Given the description of an element on the screen output the (x, y) to click on. 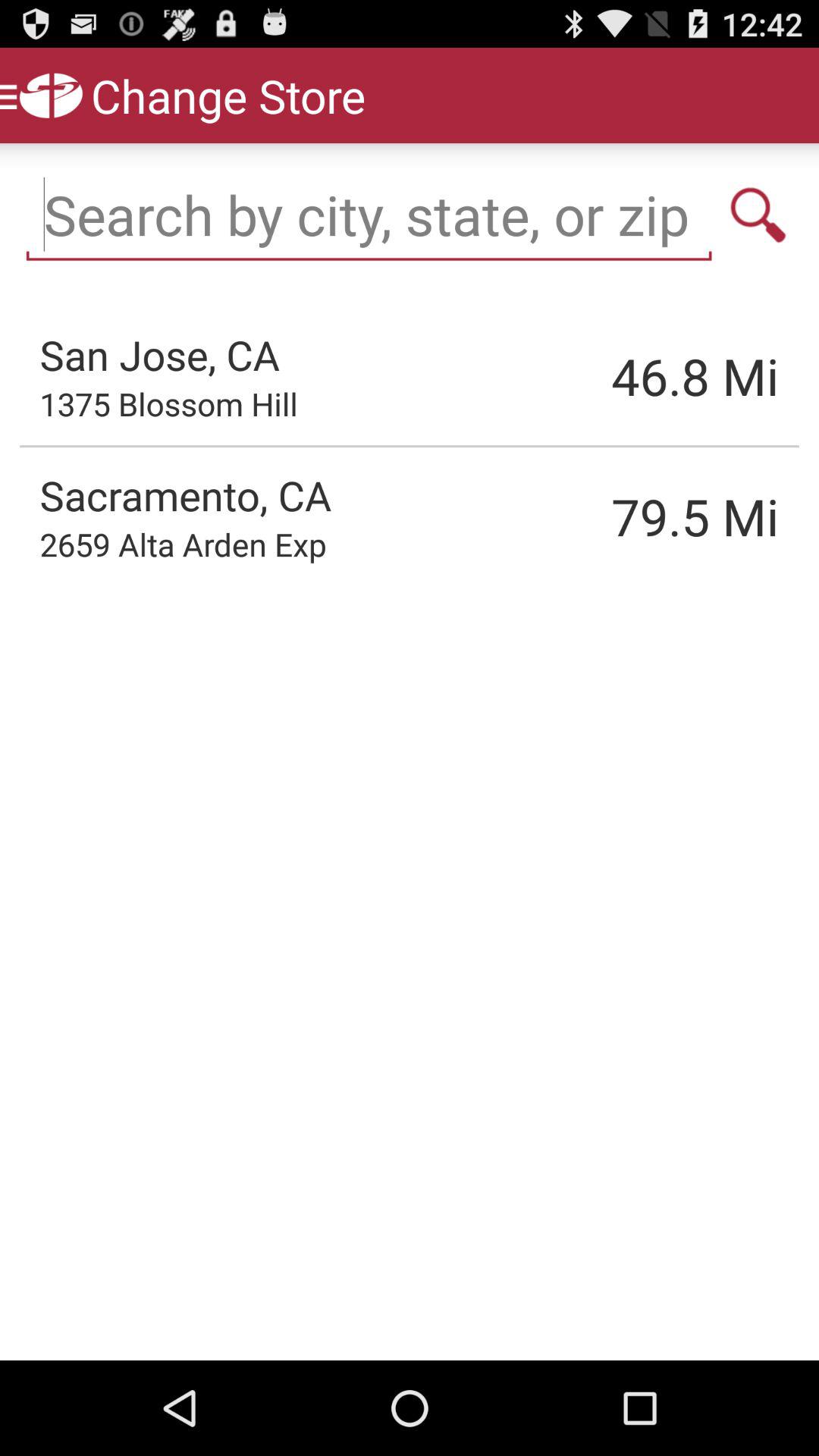
search (758, 215)
